Given the description of an element on the screen output the (x, y) to click on. 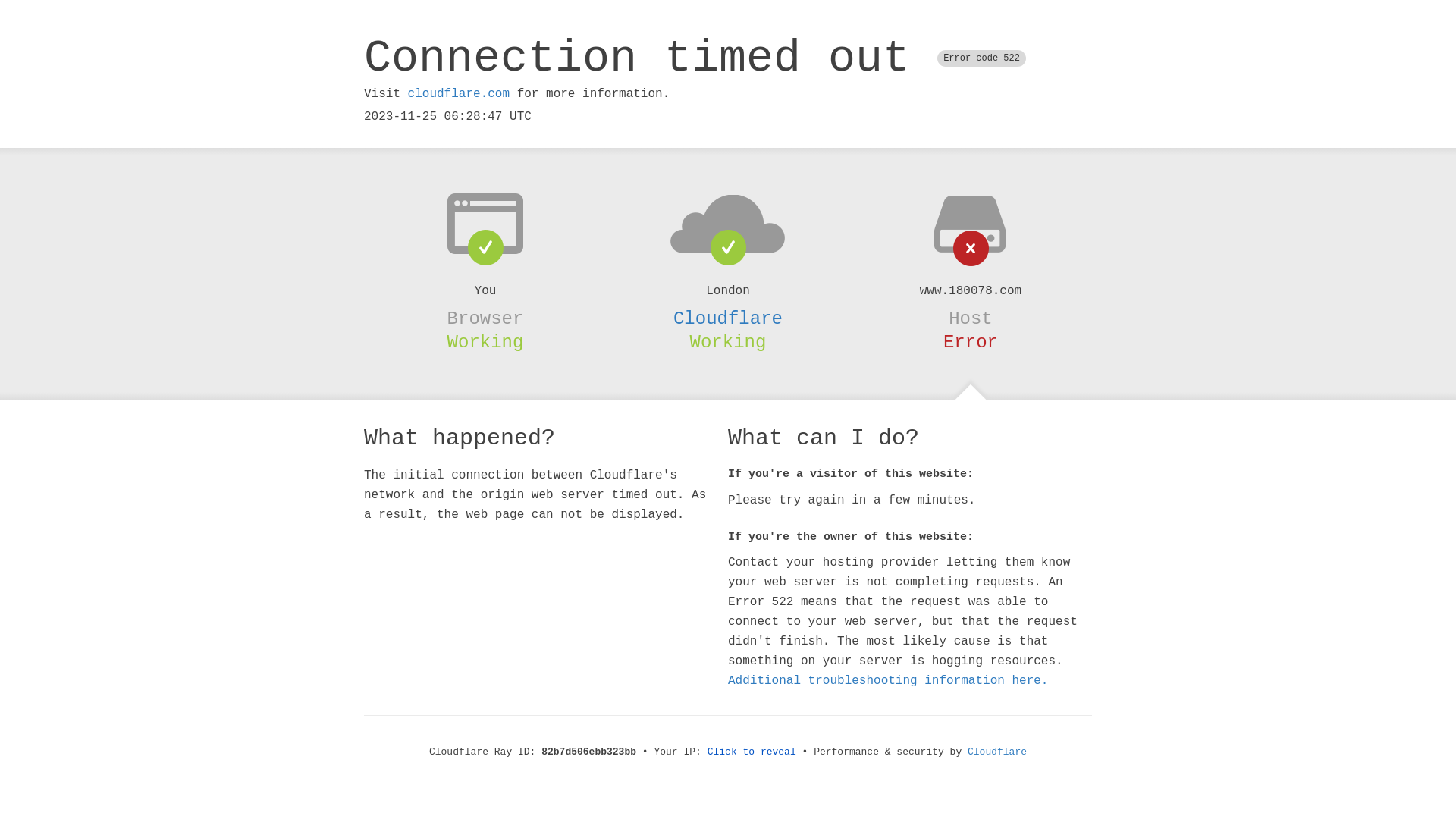
Cloudflare Element type: text (996, 751)
Cloudflare Element type: text (727, 318)
cloudflare.com Element type: text (458, 93)
Additional troubleshooting information here. Element type: text (888, 680)
Click to reveal Element type: text (751, 751)
